Given the description of an element on the screen output the (x, y) to click on. 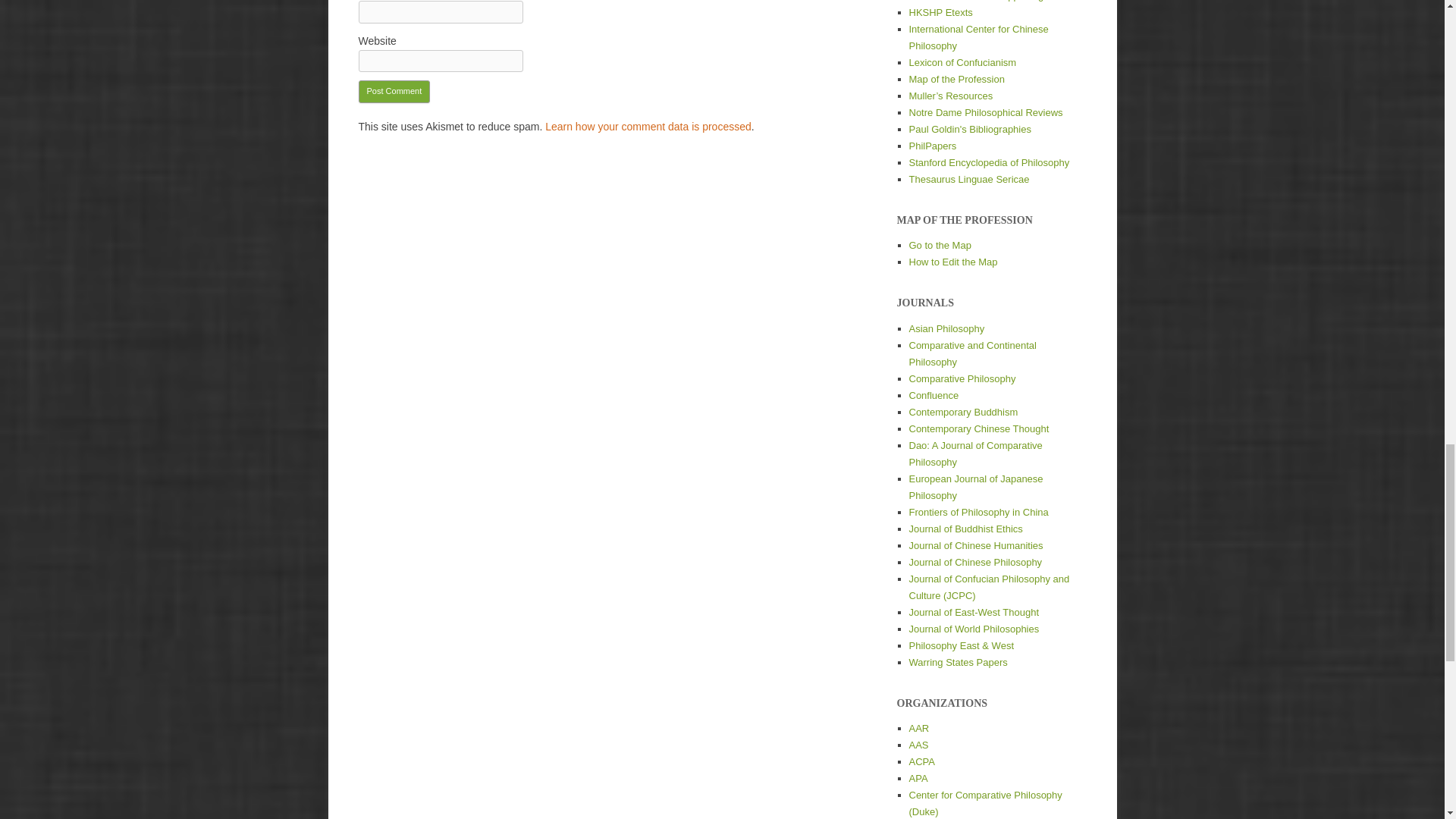
Chinese Philosophy: Map of the Profession (956, 79)
Contemporary Chinese scholarship in English (975, 545)
Learn how your comment data is processed (647, 126)
Post Comment (393, 91)
Post Comment (393, 91)
American Academy of Religion (918, 727)
